Given the description of an element on the screen output the (x, y) to click on. 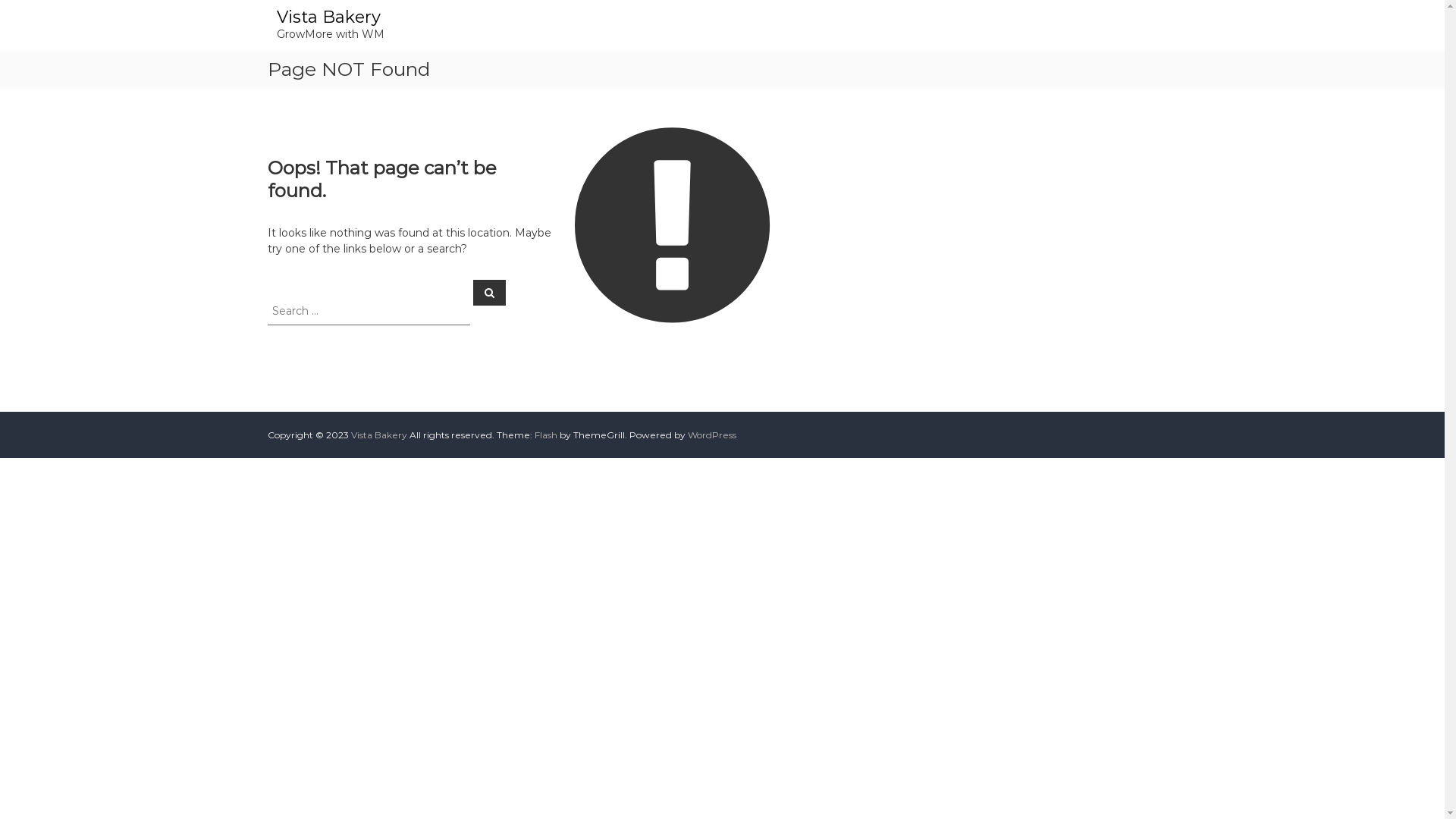
Flash Element type: text (544, 434)
Search Element type: text (489, 291)
WordPress Element type: text (711, 434)
Vista Bakery Element type: text (327, 16)
Vista Bakery Element type: text (378, 434)
